Given the description of an element on the screen output the (x, y) to click on. 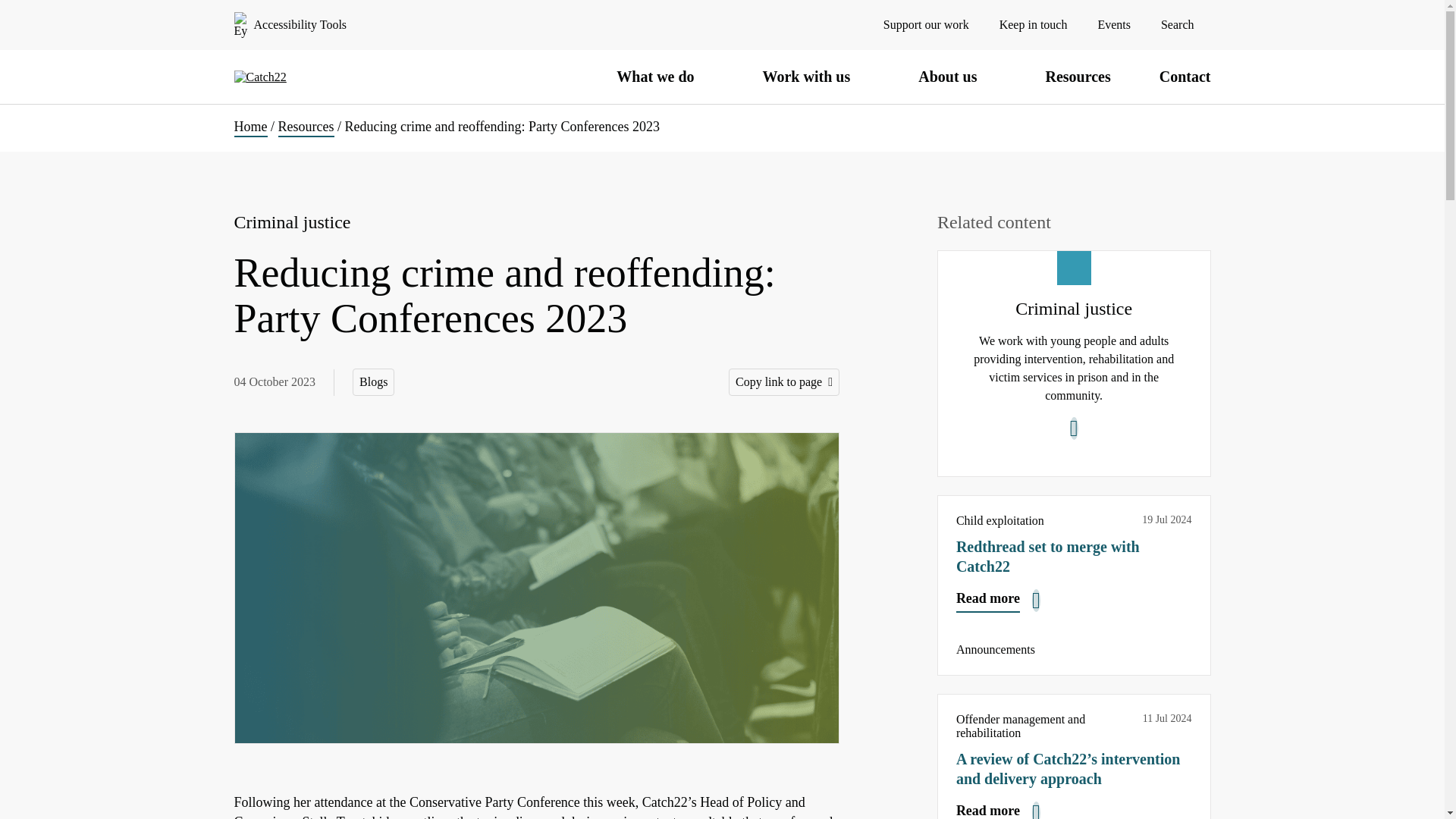
Events (1114, 24)
Resources (1077, 76)
Support our work (926, 24)
Contact (1184, 76)
About us (956, 76)
Work with us (816, 76)
Accessibility Tools (289, 24)
Search (1185, 24)
What we do (664, 76)
Keep in touch (1032, 24)
